Given the description of an element on the screen output the (x, y) to click on. 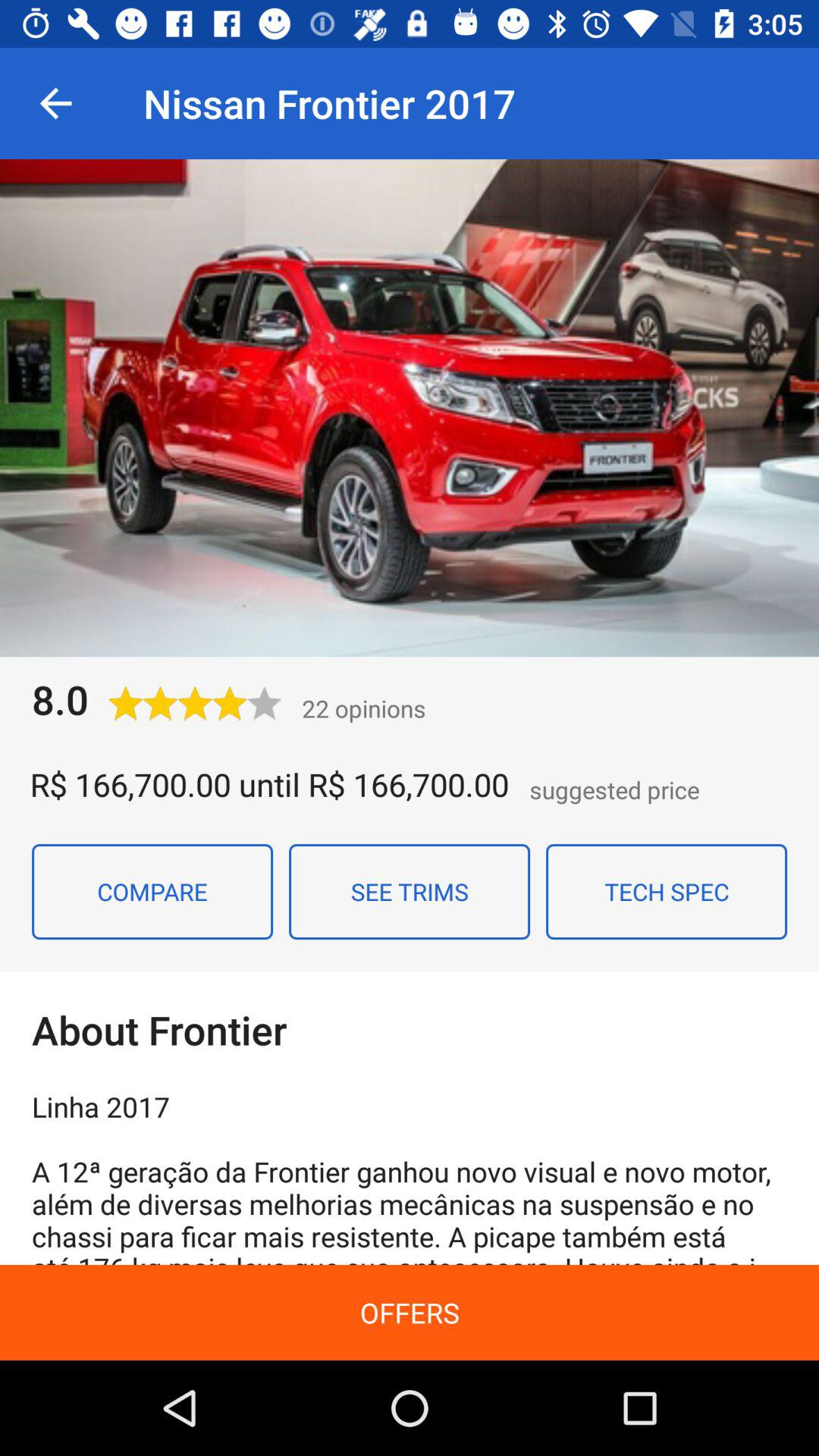
turn on offers item (409, 1312)
